Given the description of an element on the screen output the (x, y) to click on. 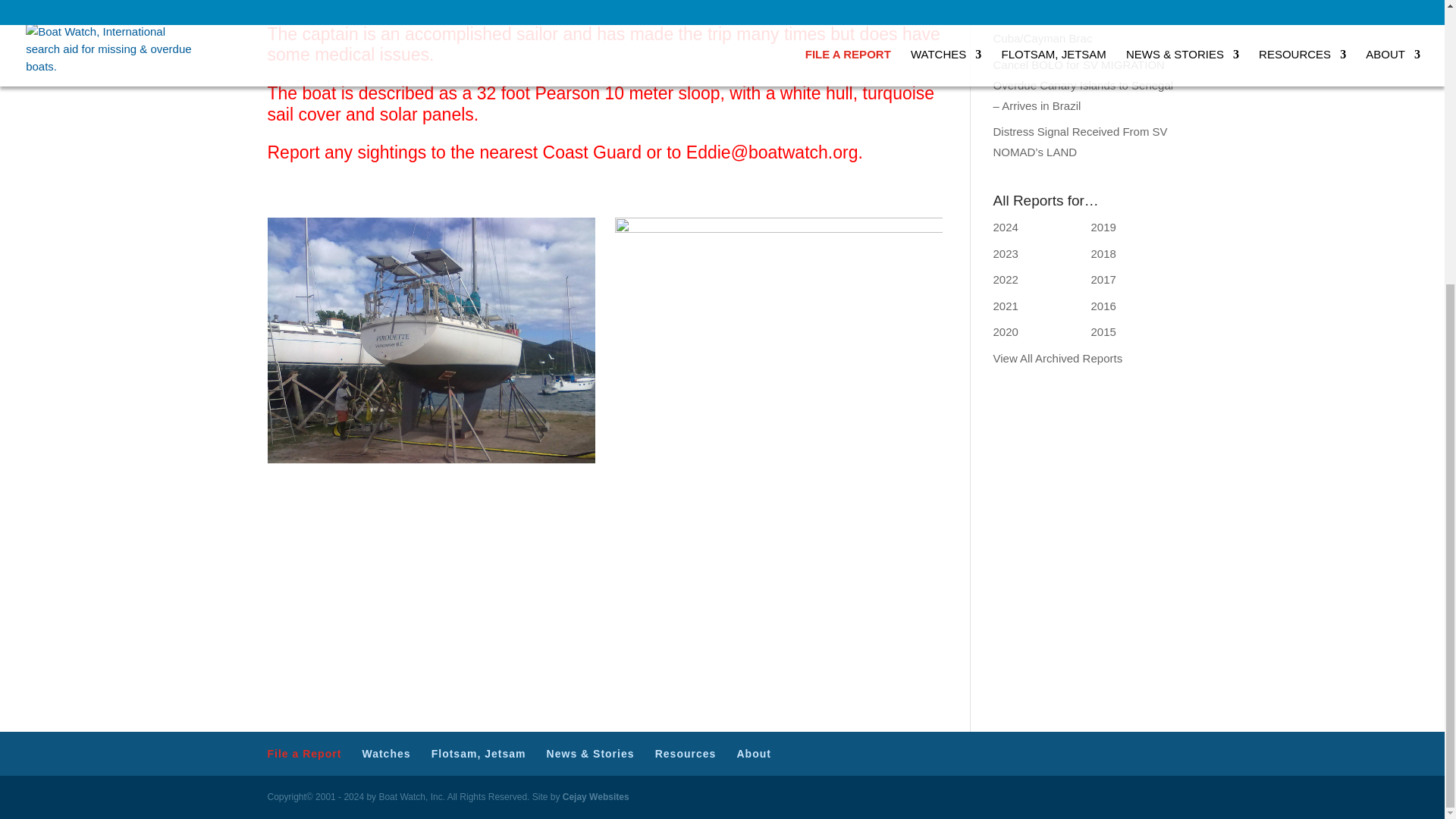
2022 (1004, 278)
2020 (1004, 331)
2017 (1102, 278)
2024 (1004, 226)
2021 (1004, 305)
2016 (1102, 305)
2019 (1102, 226)
2023 (1004, 253)
2018 (1102, 253)
2015 (1102, 331)
